Given the description of an element on the screen output the (x, y) to click on. 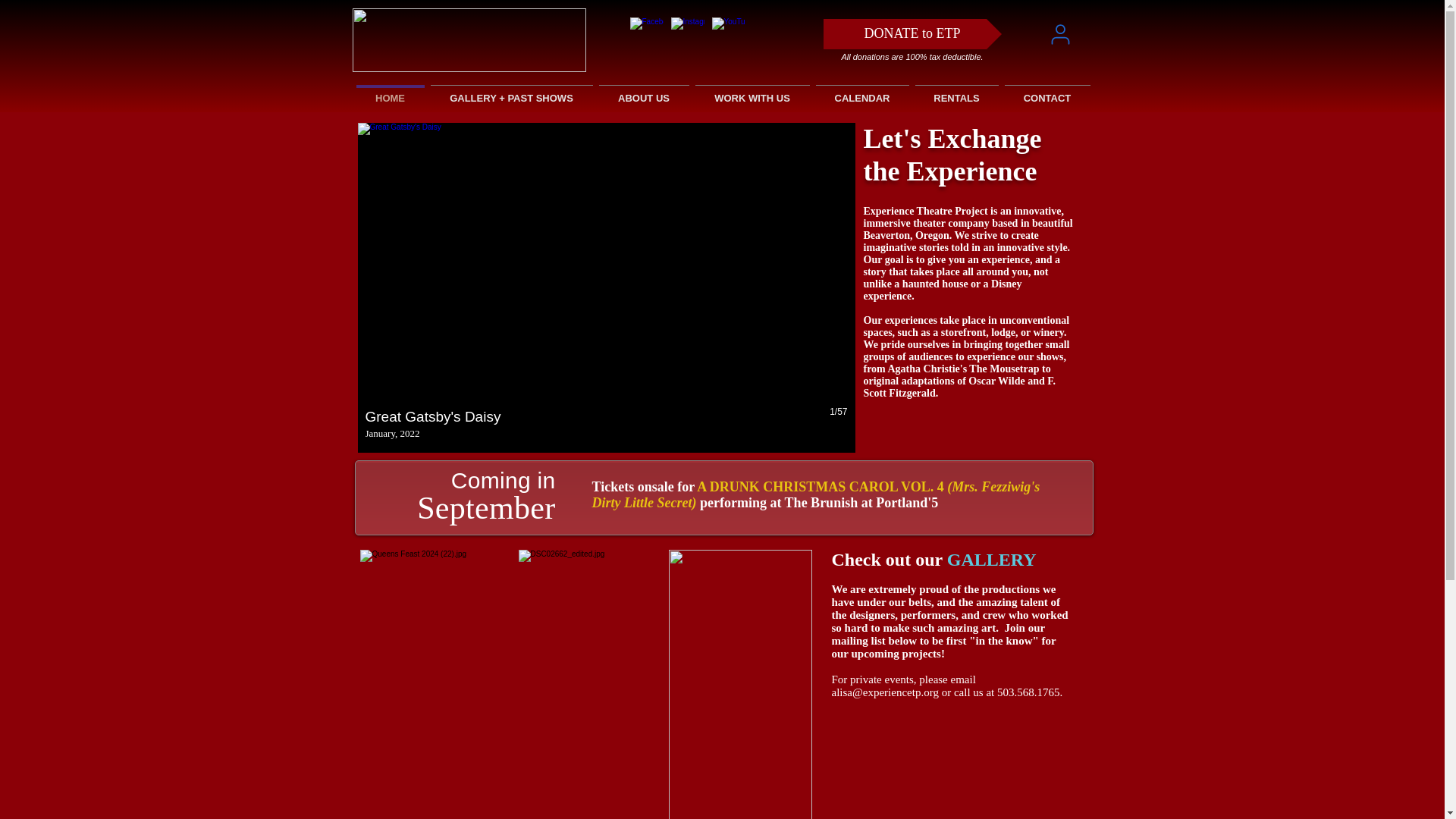
HOME (390, 91)
WORK WITH US (751, 91)
RENTALS (956, 91)
DONATE to ETP (912, 33)
CALENDAR (862, 91)
ABOUT US (644, 91)
GALLERY (991, 559)
CONTACT (1047, 91)
